Given the description of an element on the screen output the (x, y) to click on. 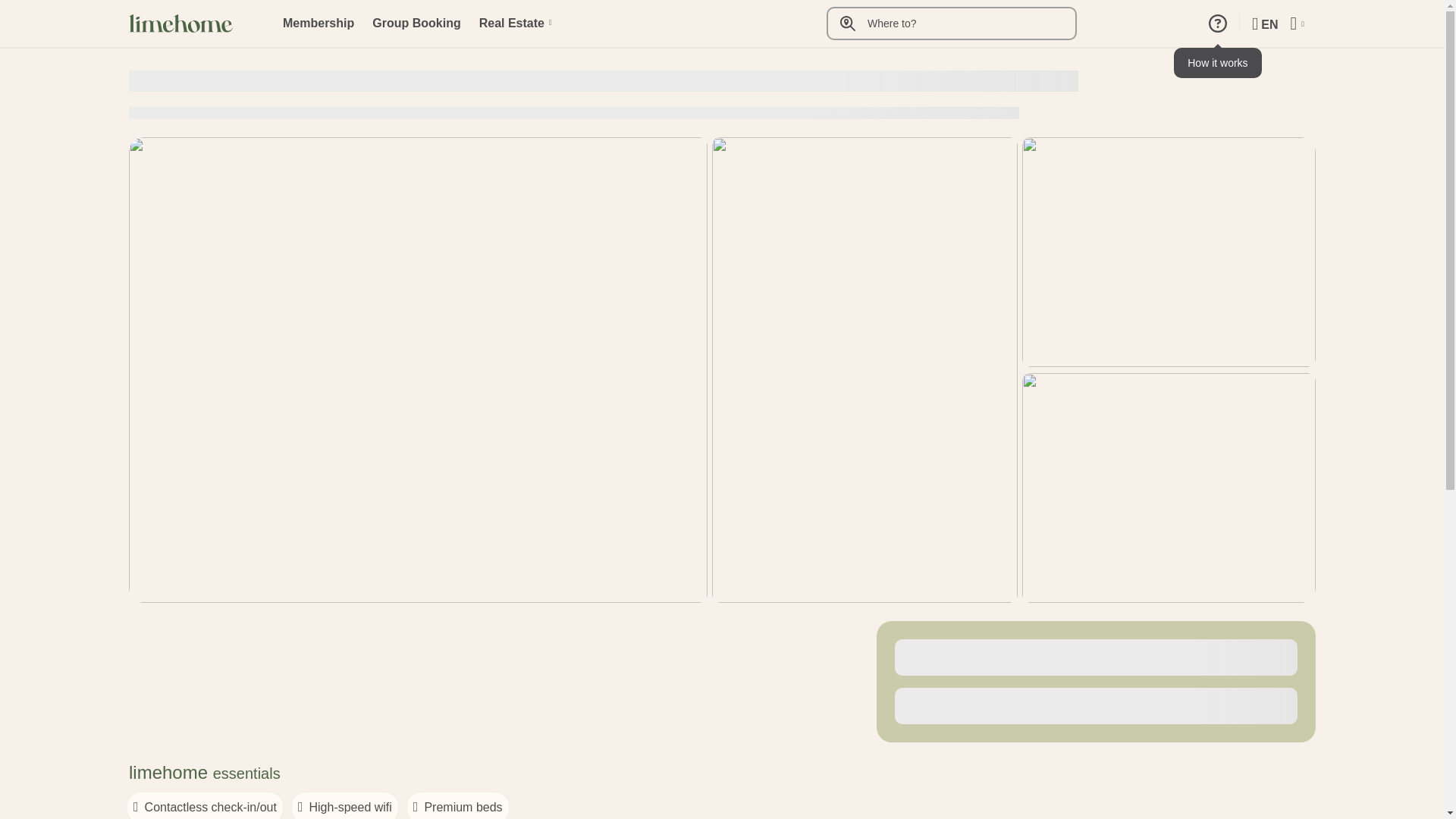
Real Estate (515, 23)
How it works (1217, 23)
Group Booking (416, 23)
Membership (317, 23)
EN (1265, 23)
